Given the description of an element on the screen output the (x, y) to click on. 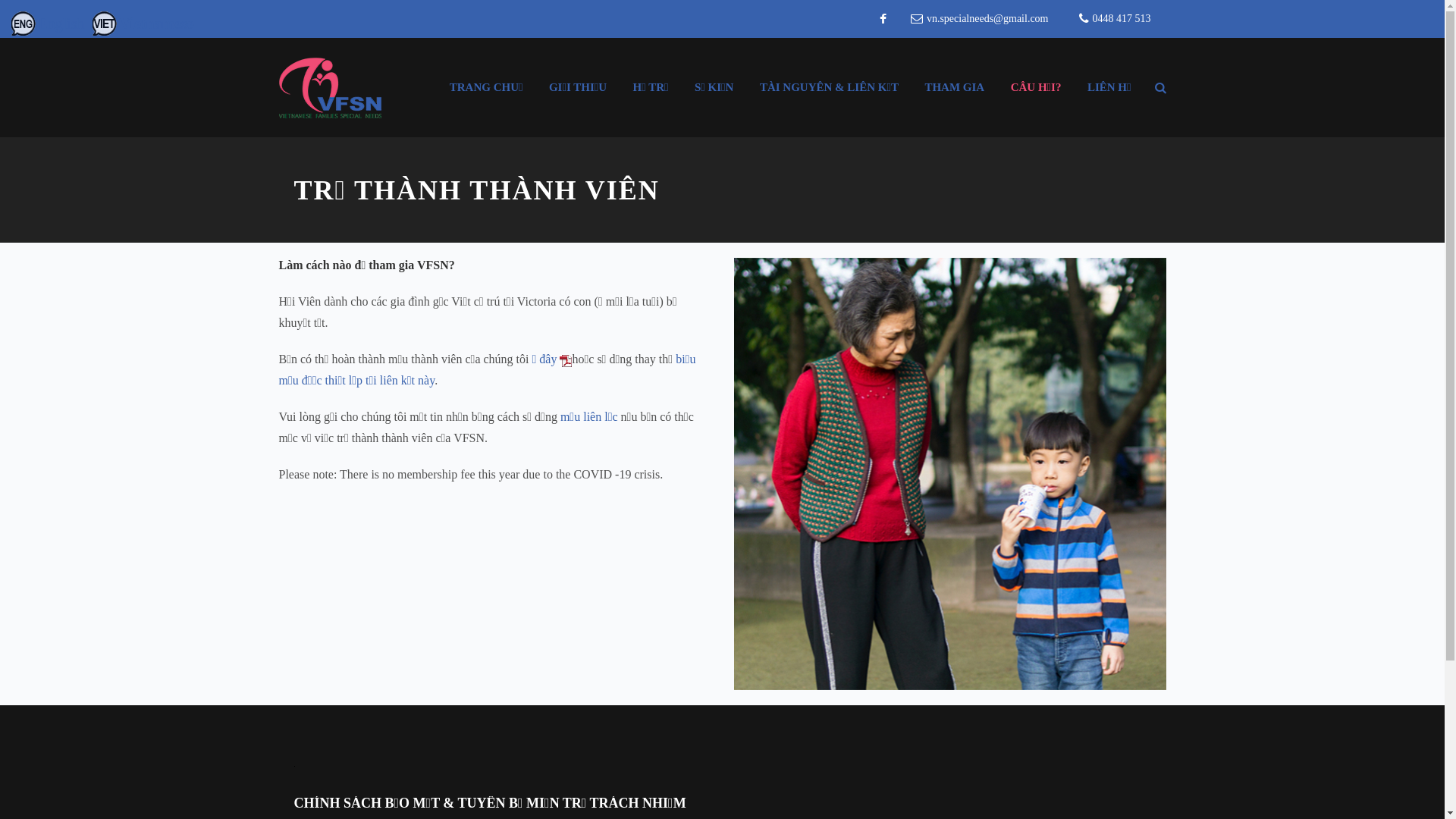
THAM GIA Element type: text (954, 86)
English Element type: text (50, 22)
Vietnamese Element type: text (145, 22)
vn.specialneeds@gmail.com Element type: text (987, 18)
VFSN Element type: hover (330, 86)
